Given the description of an element on the screen output the (x, y) to click on. 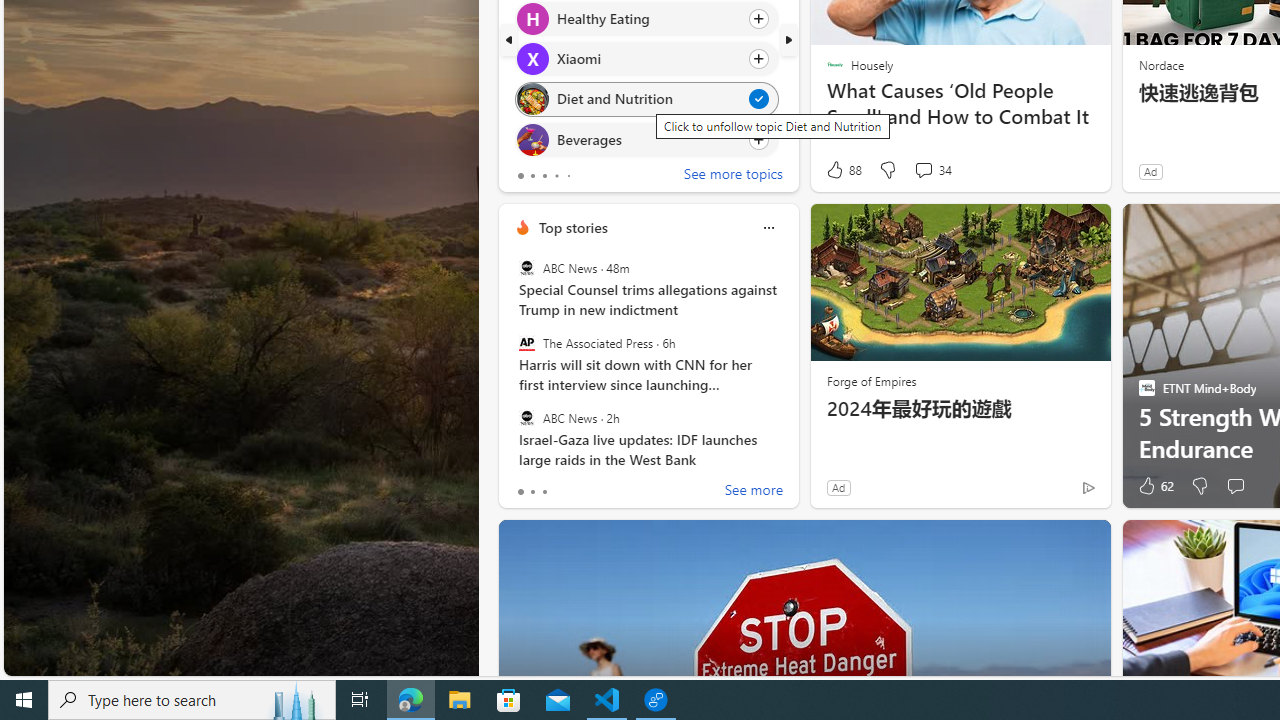
Dislike (1199, 485)
Forge of Empires (870, 380)
Click to follow topic Beverages (646, 138)
Beverages (532, 139)
Click to follow topic Healthy Eating (646, 18)
tab-1 (532, 491)
More options (768, 227)
previous (508, 39)
See more topics (733, 175)
tab-0 (520, 491)
Top stories (572, 227)
Diet and Nutrition (532, 98)
View comments 34 Comment (923, 169)
tab-3 (556, 175)
